Given the description of an element on the screen output the (x, y) to click on. 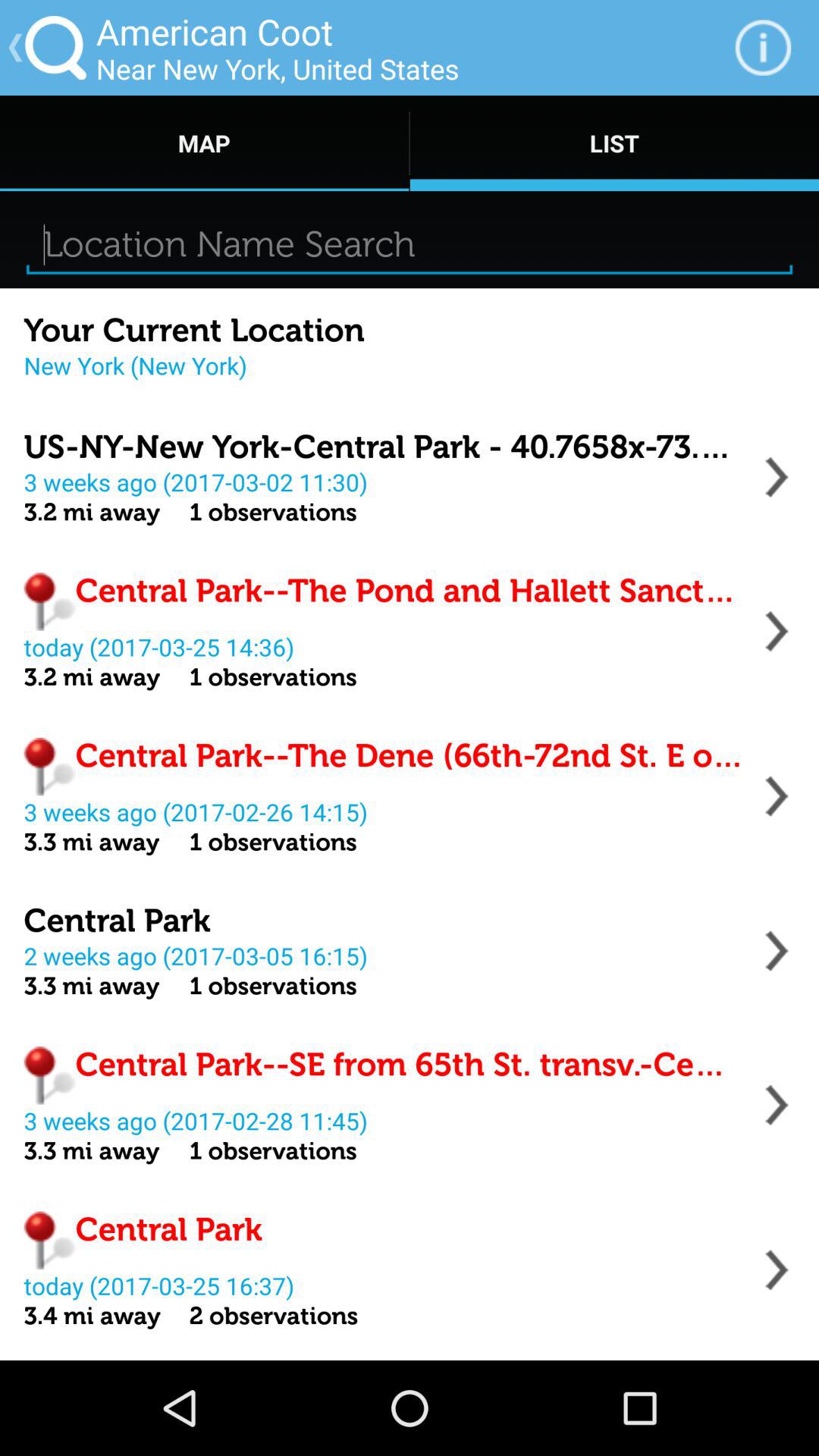
flip to your current location (193, 330)
